Given the description of an element on the screen output the (x, y) to click on. 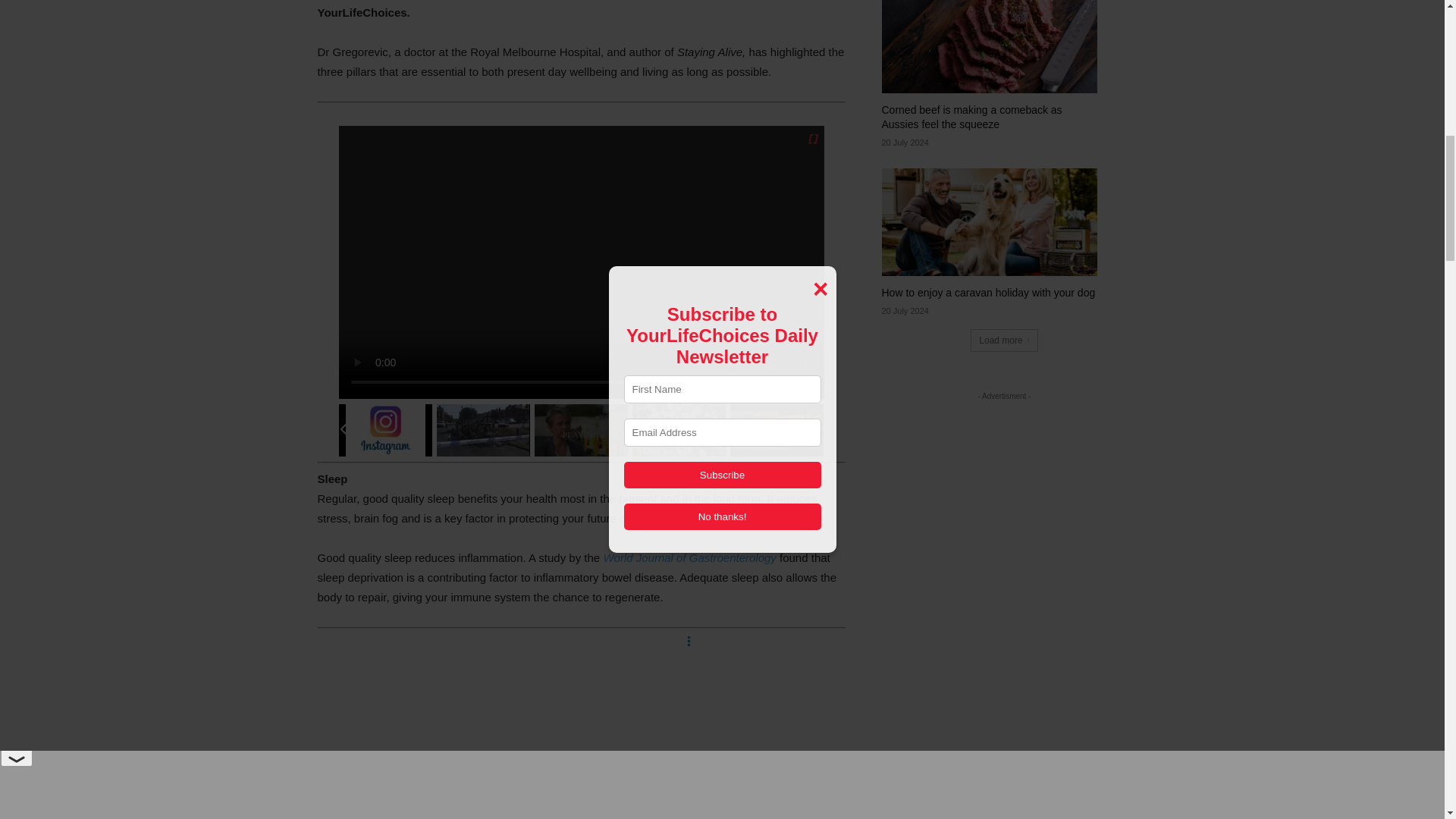
3rd party ad content (580, 726)
